Given the description of an element on the screen output the (x, y) to click on. 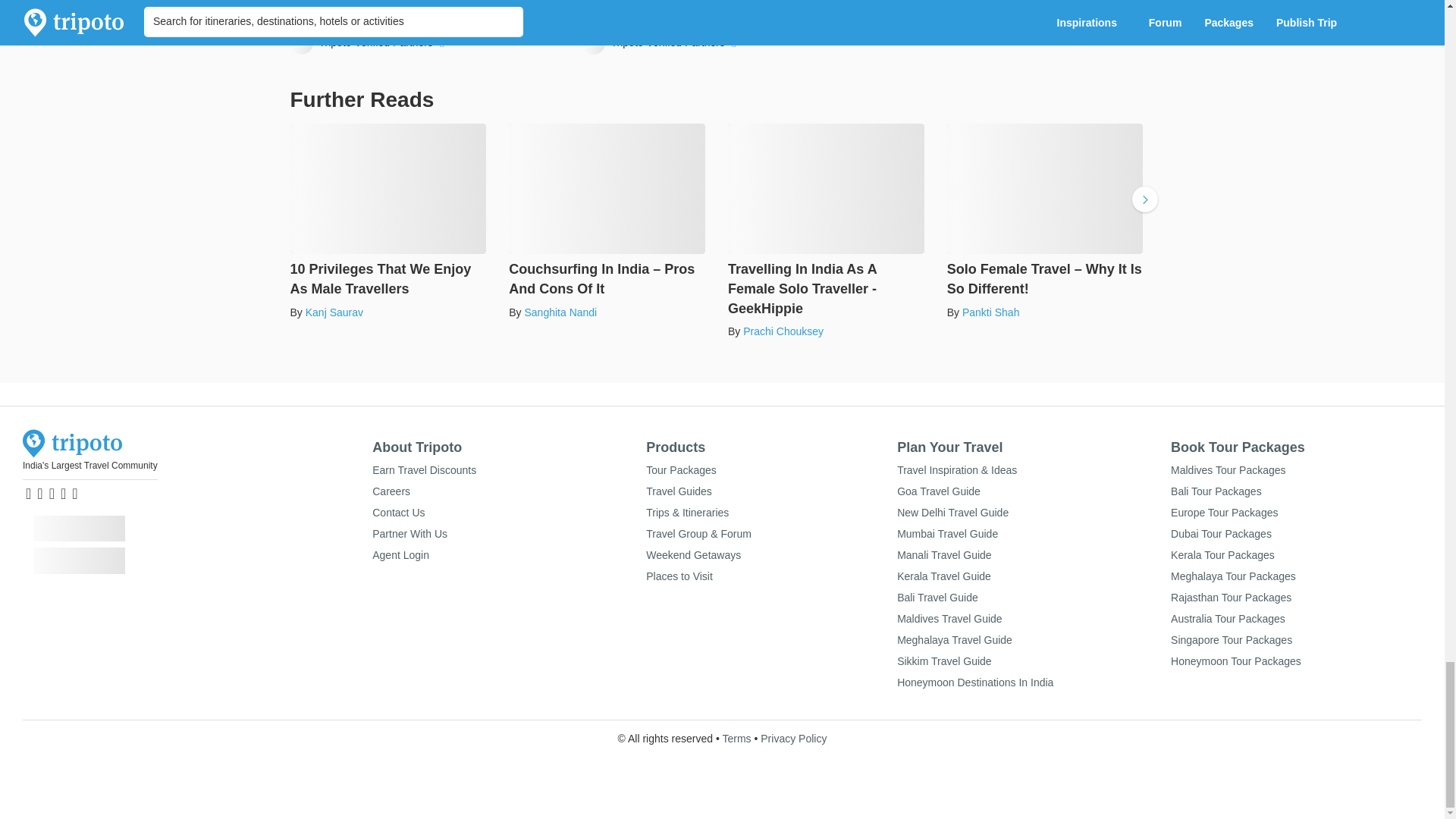
Get Quotes (526, 14)
Get Quotes (817, 14)
Tripoto Verified Partners (367, 42)
